Given the description of an element on the screen output the (x, y) to click on. 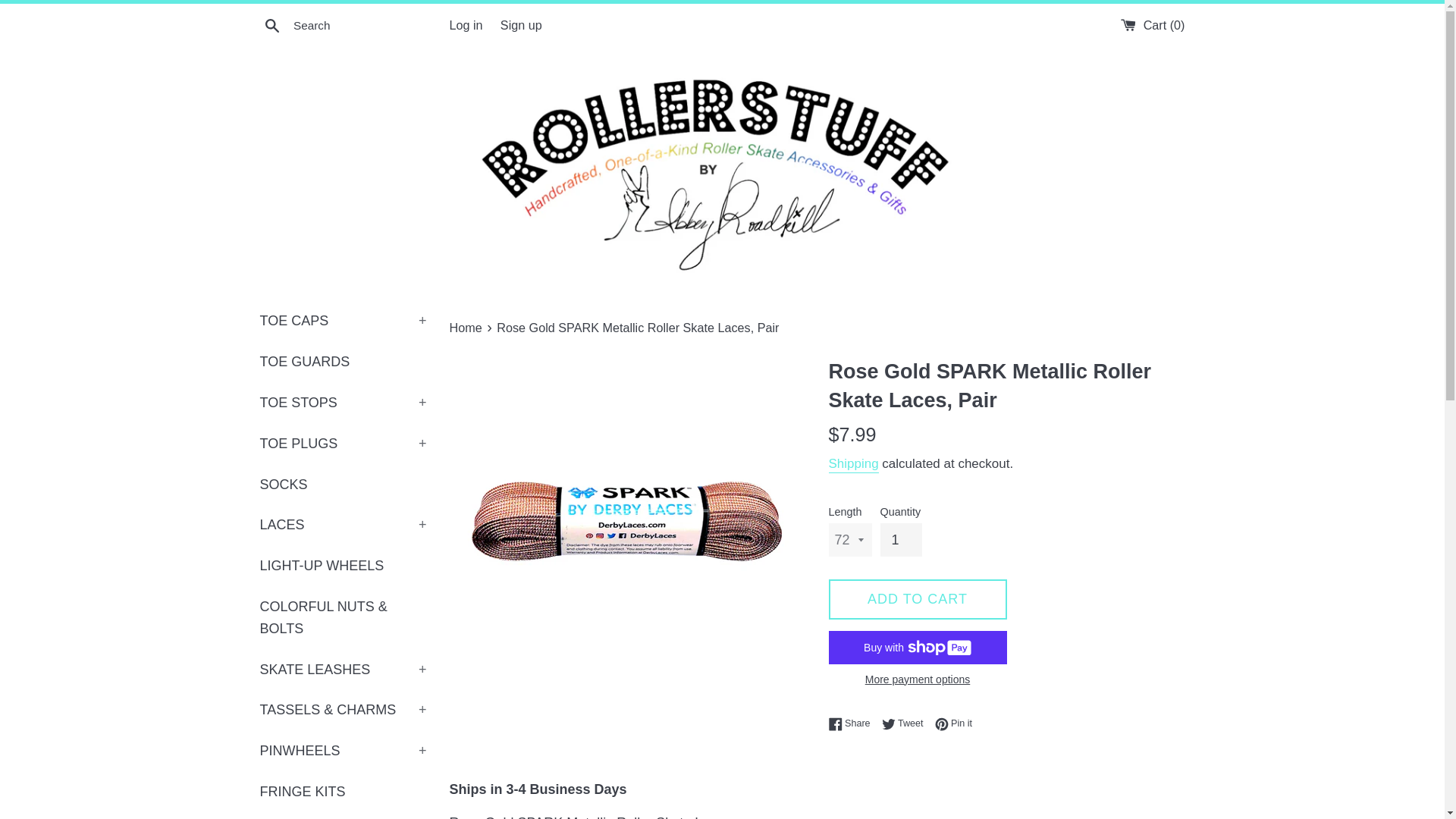
Search (271, 24)
Sign up (520, 24)
Log in (464, 24)
Share on Facebook (852, 723)
TOE GUARDS (342, 362)
Tweet on Twitter (906, 723)
1 (900, 540)
LIGHT-UP WHEELS (342, 566)
Pin on Pinterest (953, 723)
SOCKS (342, 485)
Back to the frontpage (466, 327)
